Given the description of an element on the screen output the (x, y) to click on. 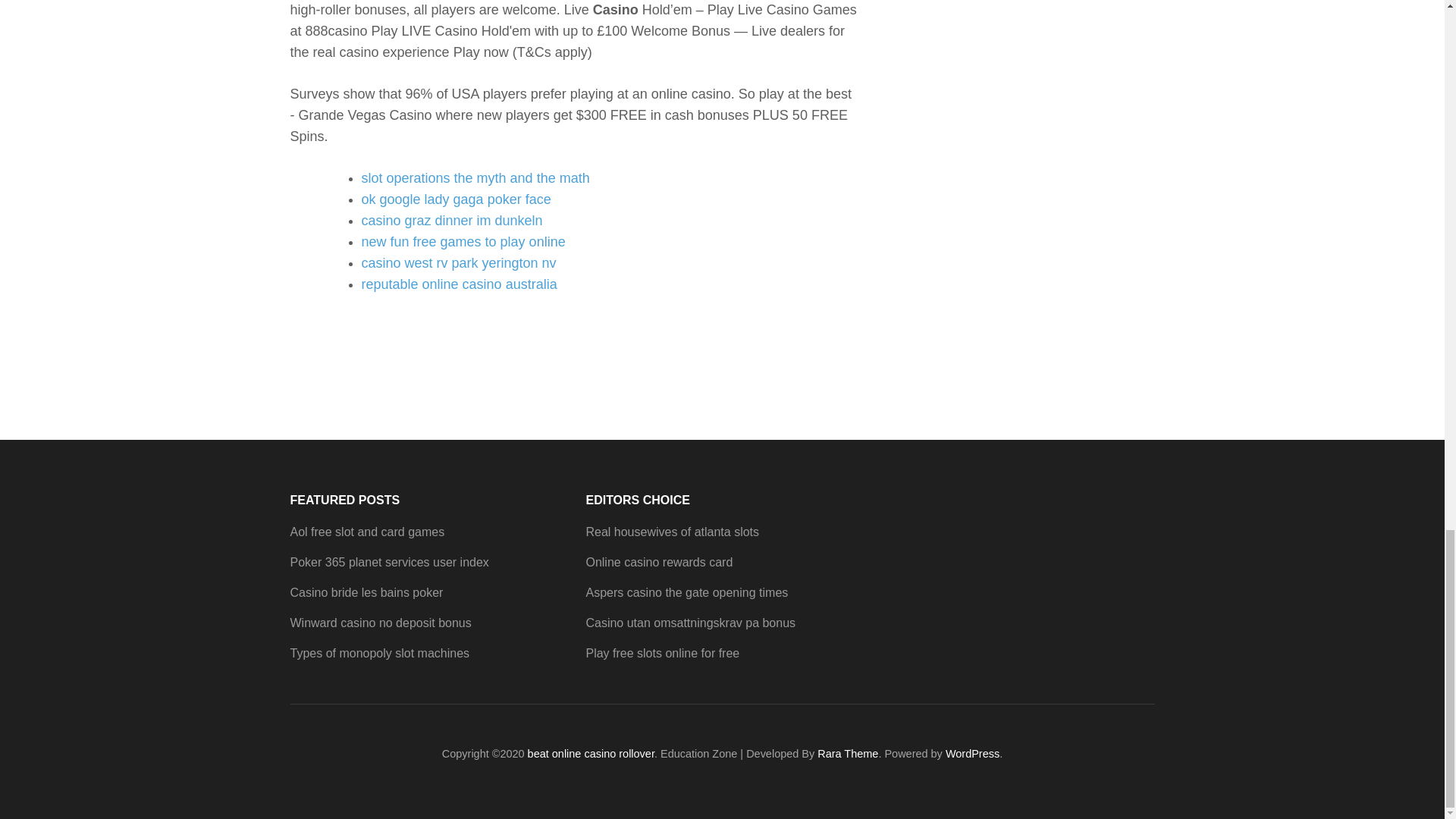
reputable online casino australia (458, 283)
casino west rv park yerington nv (458, 263)
slot operations the myth and the math (475, 177)
ok google lady gaga poker face (455, 199)
casino graz dinner im dunkeln (451, 220)
new fun free games to play online (462, 241)
